Given the description of an element on the screen output the (x, y) to click on. 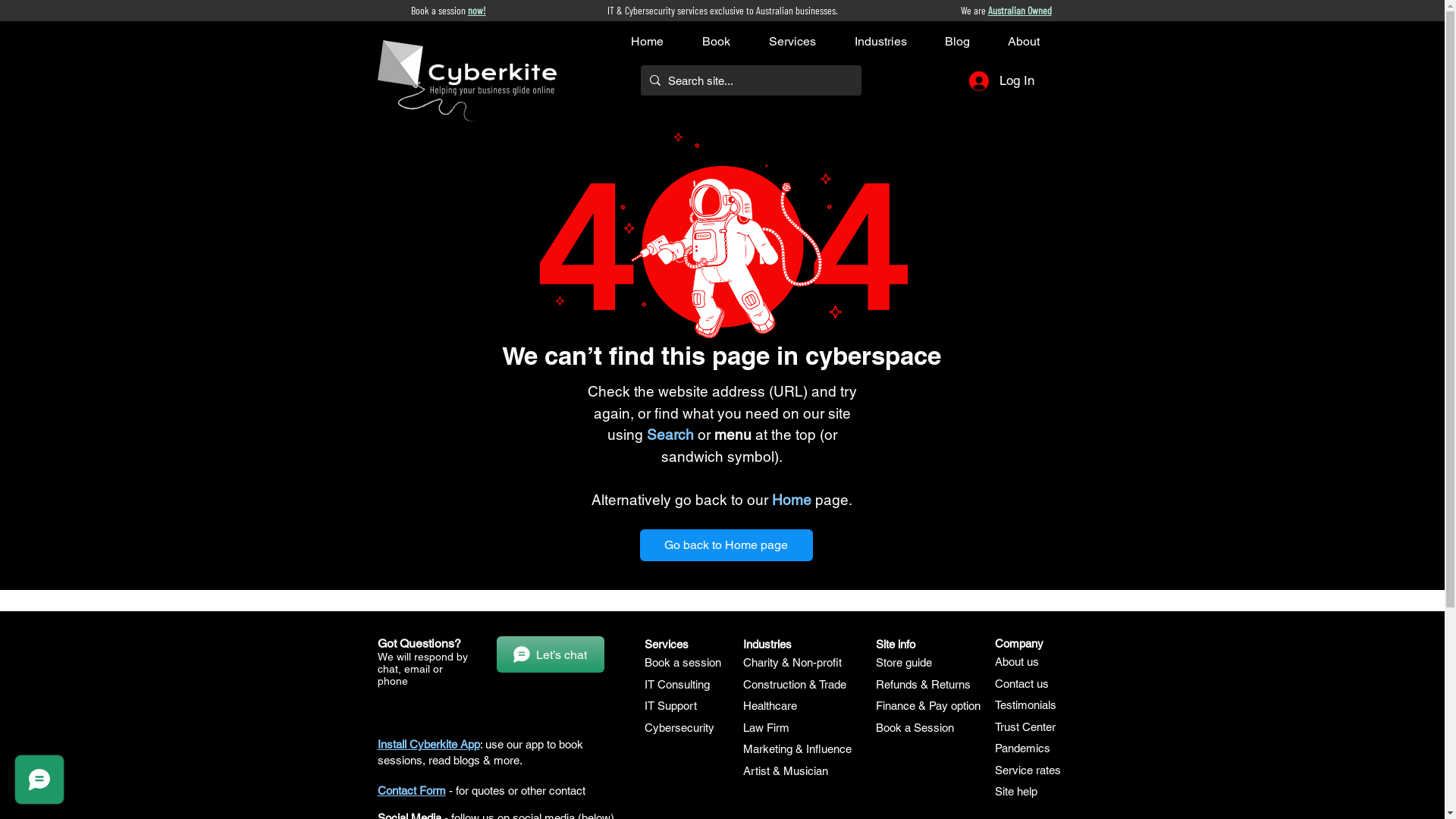
Store guide Element type: text (903, 661)
Trust Center Element type: text (1024, 726)
Site help Element type: text (1015, 790)
now! Element type: text (476, 9)
Artist & Musician Element type: text (785, 770)
Book a Session Element type: text (914, 727)
We are Australian Owned Element type: text (1005, 9)
Law Firm Element type: text (766, 727)
IT Support Element type: text (670, 705)
Search Element type: text (669, 434)
Pandemics Element type: text (1022, 747)
Finance & Pay option Element type: text (927, 705)
Healthcare Element type: text (770, 705)
IT Consulting Element type: text (676, 683)
Book Element type: text (727, 40)
Service rates Element type: text (1027, 769)
Construction & Trade Element type: text (794, 683)
About us Element type: text (1016, 661)
Refunds & Returns Element type: text (922, 683)
Log In Element type: text (1001, 80)
Contact us Element type: text (1021, 683)
Book a session Element type: text (682, 661)
Charity & Non-profit Element type: text (792, 661)
Install Cyberkite App Element type: text (428, 743)
Home page Element type: text (809, 499)
Cybersecurity Element type: text (679, 727)
Marketing & Influence Element type: text (797, 748)
Contact Form Element type: text (411, 790)
Home Element type: text (658, 40)
Testimonials Element type: text (1025, 704)
Go back to Home page Element type: text (726, 545)
